Given the description of an element on the screen output the (x, y) to click on. 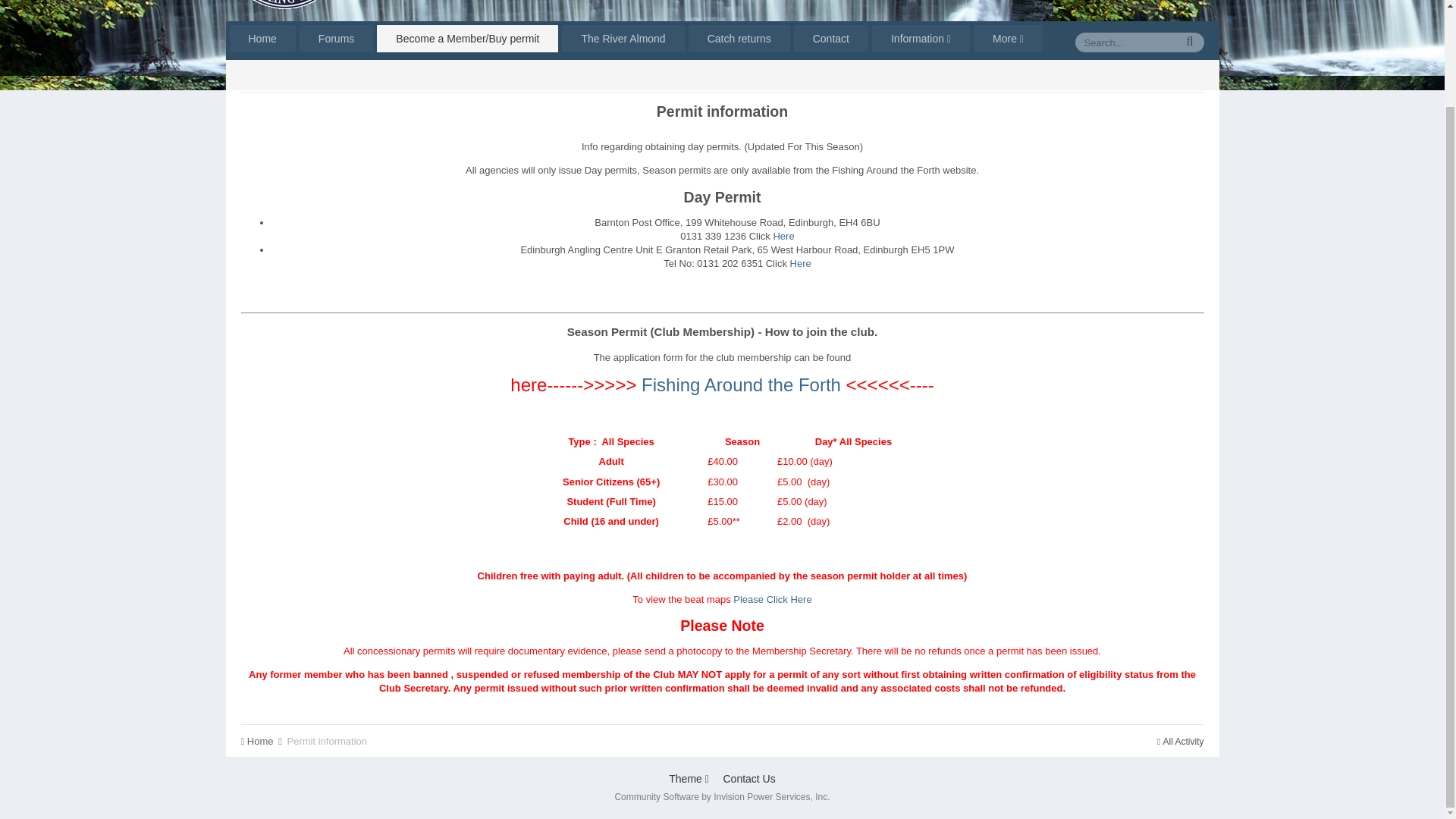
Home (261, 38)
More (1008, 38)
Home (262, 740)
Community Software by Invision Power Services, Inc. (721, 796)
Information (920, 38)
Catch returns (739, 38)
Permit information (326, 75)
Home (262, 75)
Forums (335, 38)
Contact (830, 38)
All Activity (1180, 76)
The River Almond (623, 38)
Home (262, 75)
Here (783, 235)
